Given the description of an element on the screen output the (x, y) to click on. 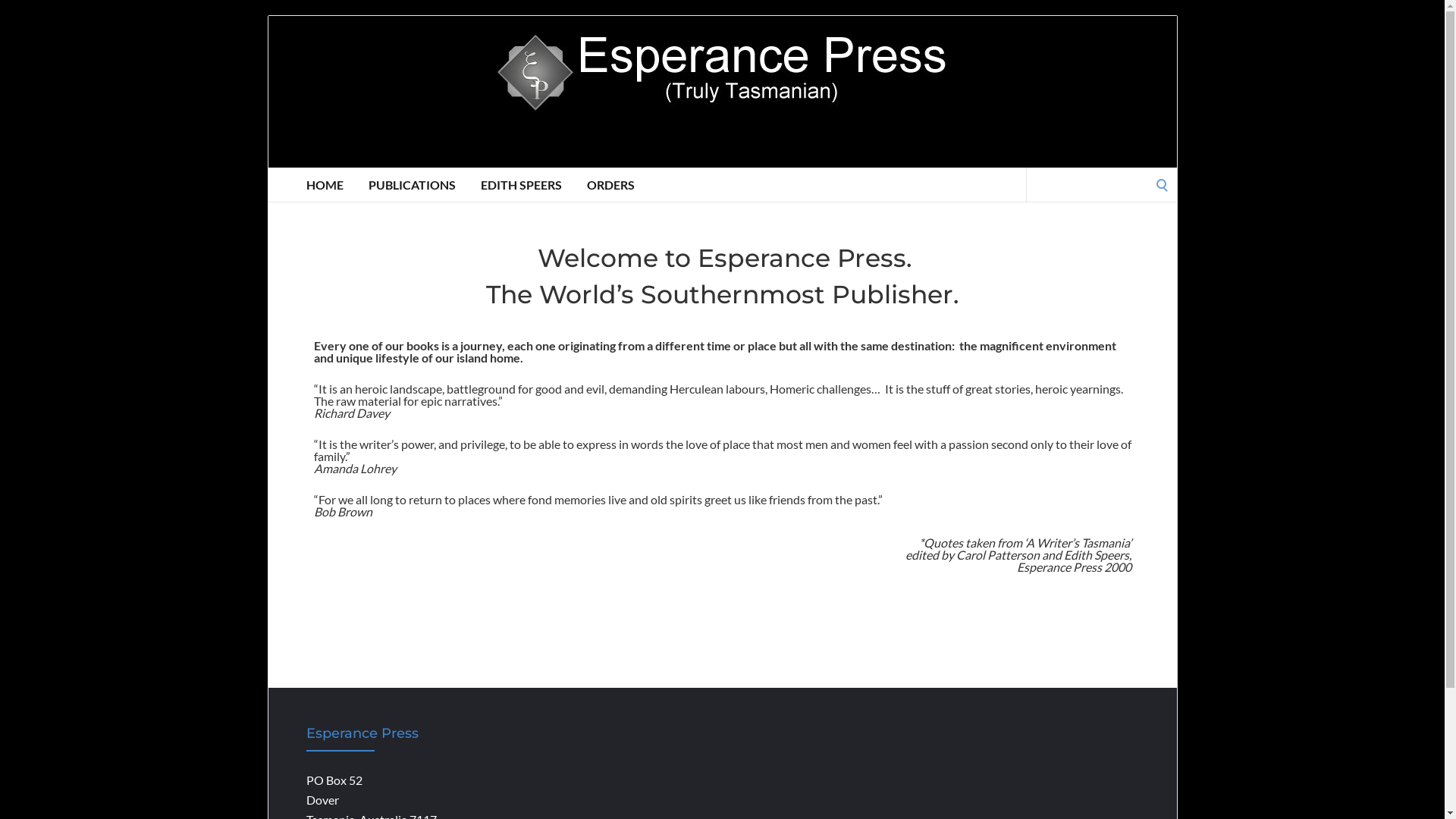
Esperance Press Element type: text (722, 91)
ORDERS Element type: text (610, 184)
EDITH SPEERS Element type: text (520, 184)
HOME Element type: text (324, 184)
PUBLICATIONS Element type: text (411, 184)
Search Element type: text (16, 17)
